Given the description of an element on the screen output the (x, y) to click on. 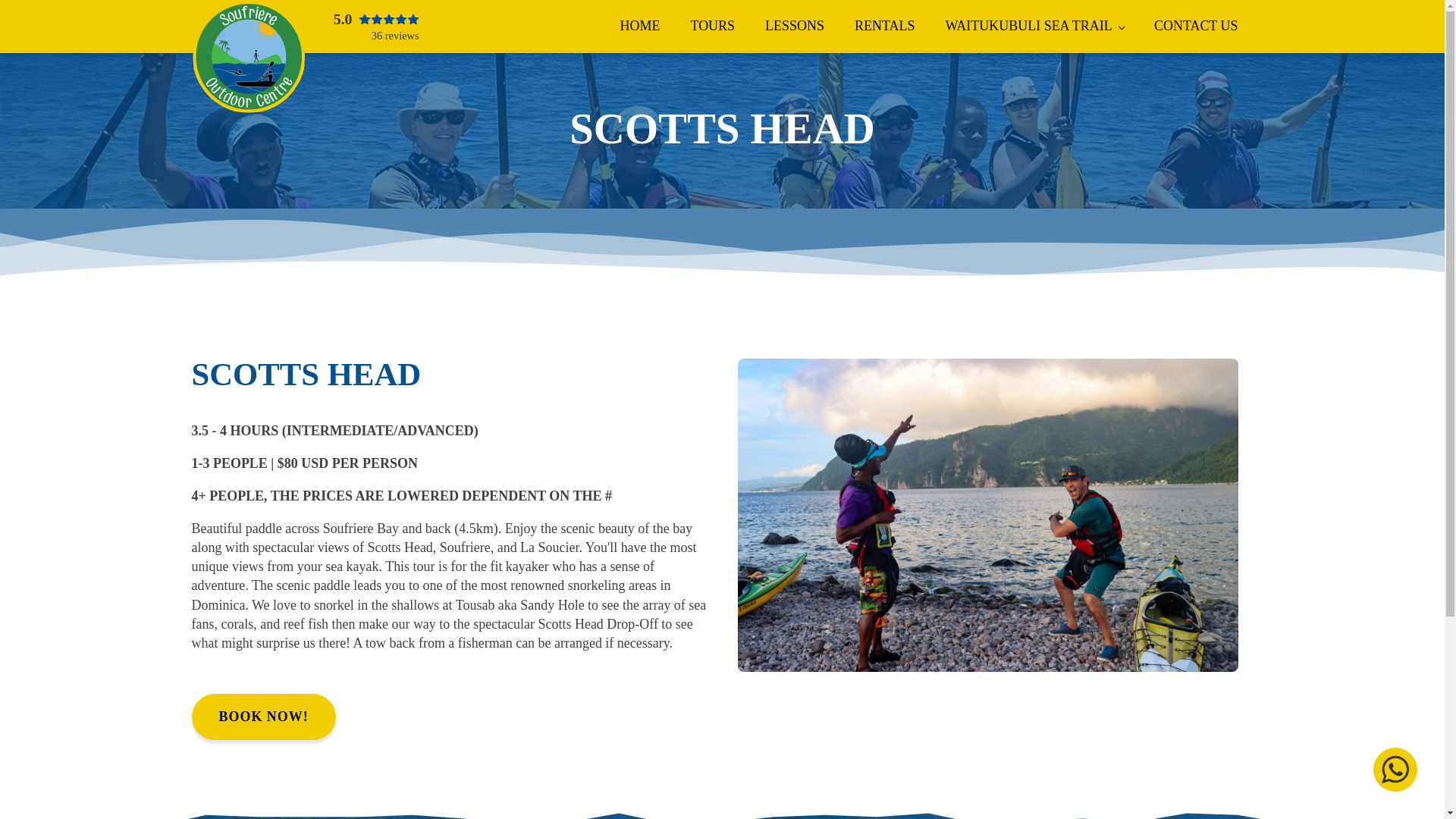
TOURS (712, 25)
BOOK NOW! (262, 716)
RENTALS (885, 25)
LESSONS (794, 25)
HOME (640, 25)
CONTACT US (376, 26)
WAITUKUBULI SEA TRAIL (1195, 25)
